Given the description of an element on the screen output the (x, y) to click on. 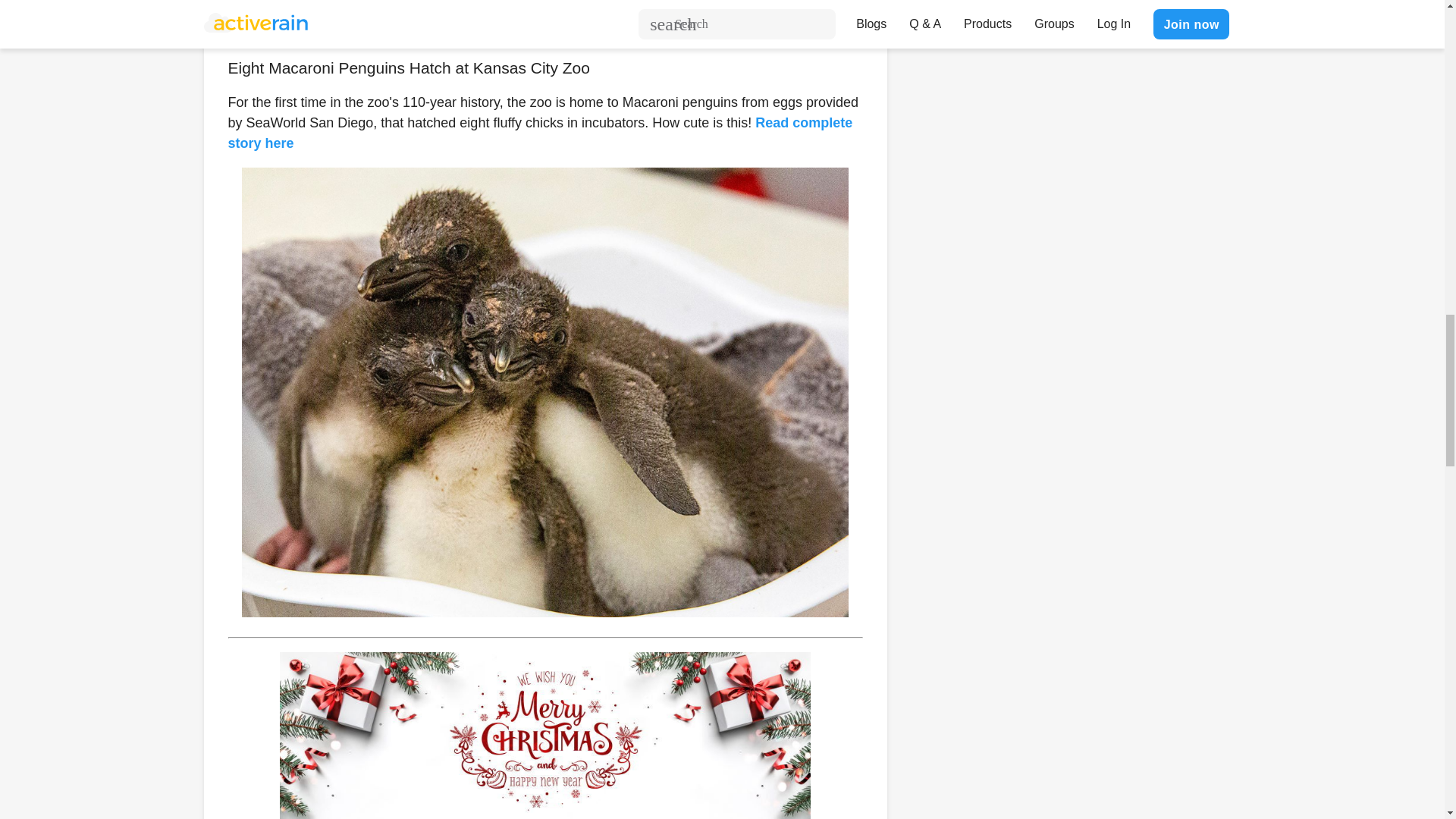
Read complete story here (539, 132)
Read complete article here (524, 17)
